Given the description of an element on the screen output the (x, y) to click on. 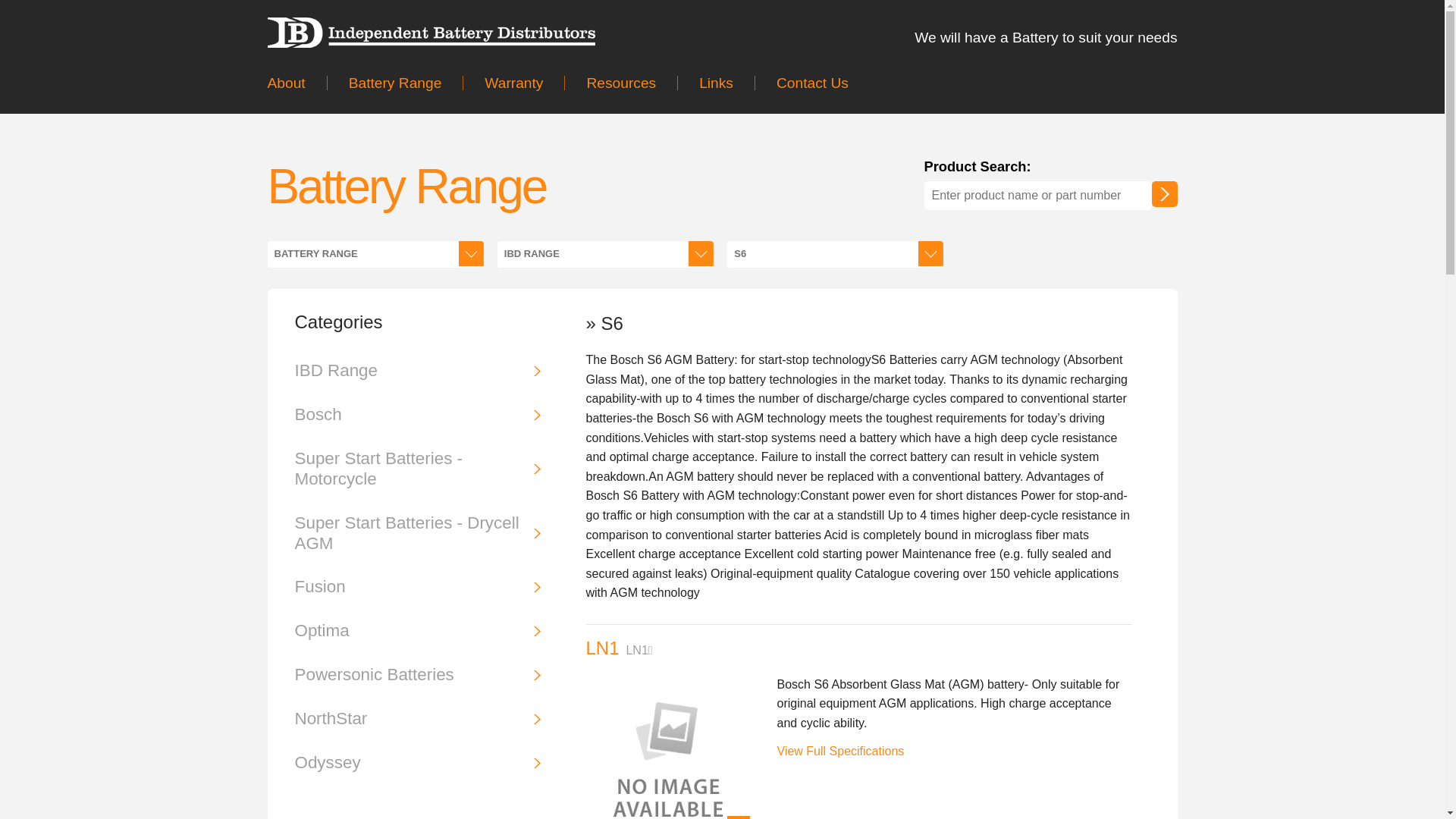
Optima Element type: text (416, 630)
Contact Us Element type: text (811, 82)
LN1 Element type: text (601, 647)
Super Start Batteries - Motorcycle Element type: text (416, 469)
Powersonic Batteries Element type: text (416, 674)
Odyssey Element type: text (416, 762)
submit Element type: text (1163, 194)
Warranty Element type: text (513, 82)
Bosch Element type: text (416, 414)
View Full Specifications Element type: text (839, 750)
Fusion Element type: text (416, 586)
Links Element type: text (715, 82)
IBD Range Element type: text (416, 370)
Battery Range Element type: text (394, 82)
About Element type: text (296, 82)
NorthStar Element type: text (416, 718)
Resources Element type: text (620, 82)
Super Start Batteries - Drycell AGM Element type: text (416, 533)
